Given the description of an element on the screen output the (x, y) to click on. 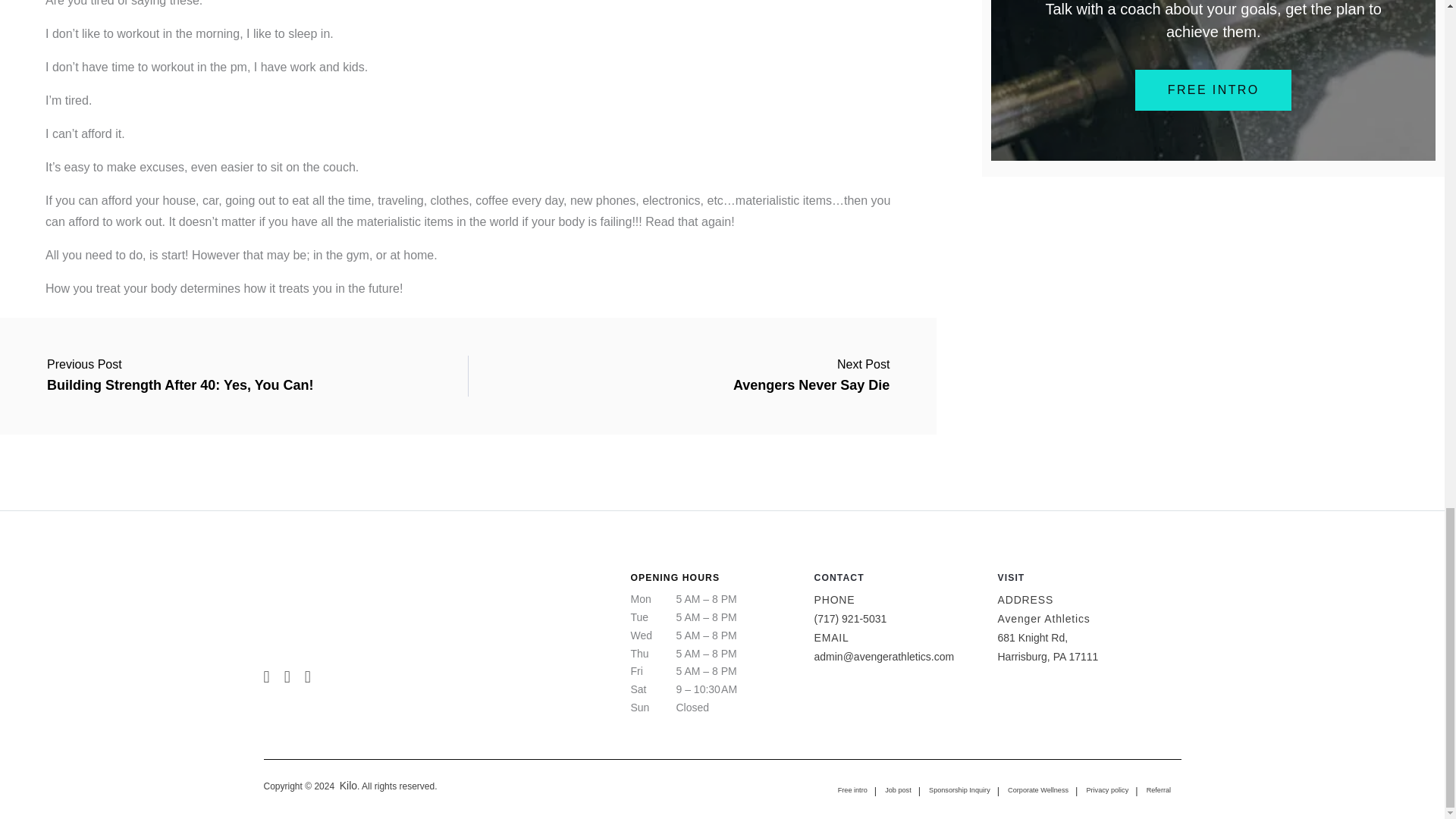
Avengers Never Say Die (811, 370)
Follow us on youtube (307, 674)
FREE INTRO (1213, 89)
Follow us on instagram (269, 674)
Follow us on facebook (289, 674)
Building Strength After 40: Yes, You Can! (179, 370)
